Given the description of an element on the screen output the (x, y) to click on. 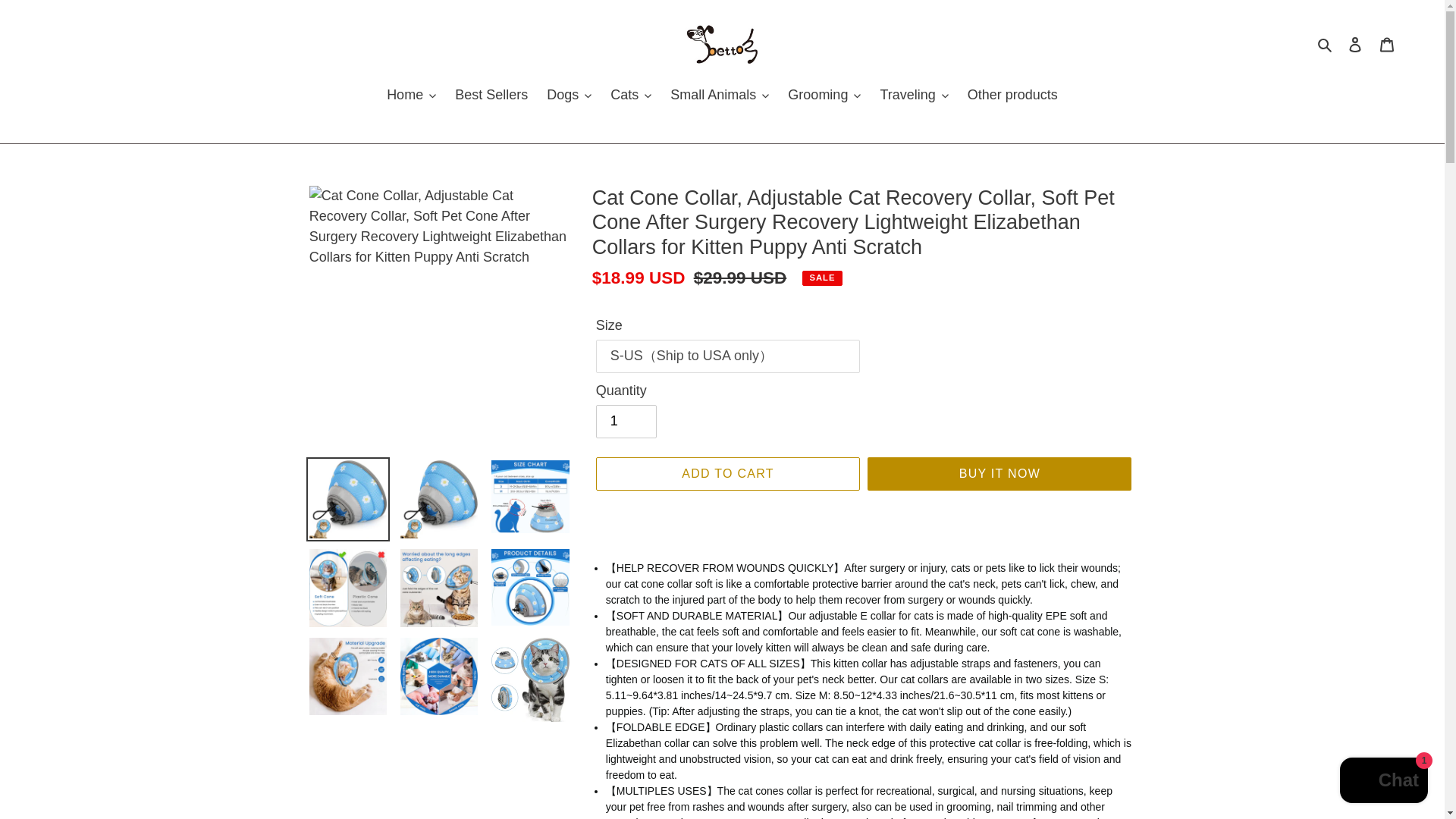
Search (1326, 44)
Log in (1355, 44)
Cart (1387, 44)
Shopify online store chat (1383, 781)
1 (625, 421)
